Given the description of an element on the screen output the (x, y) to click on. 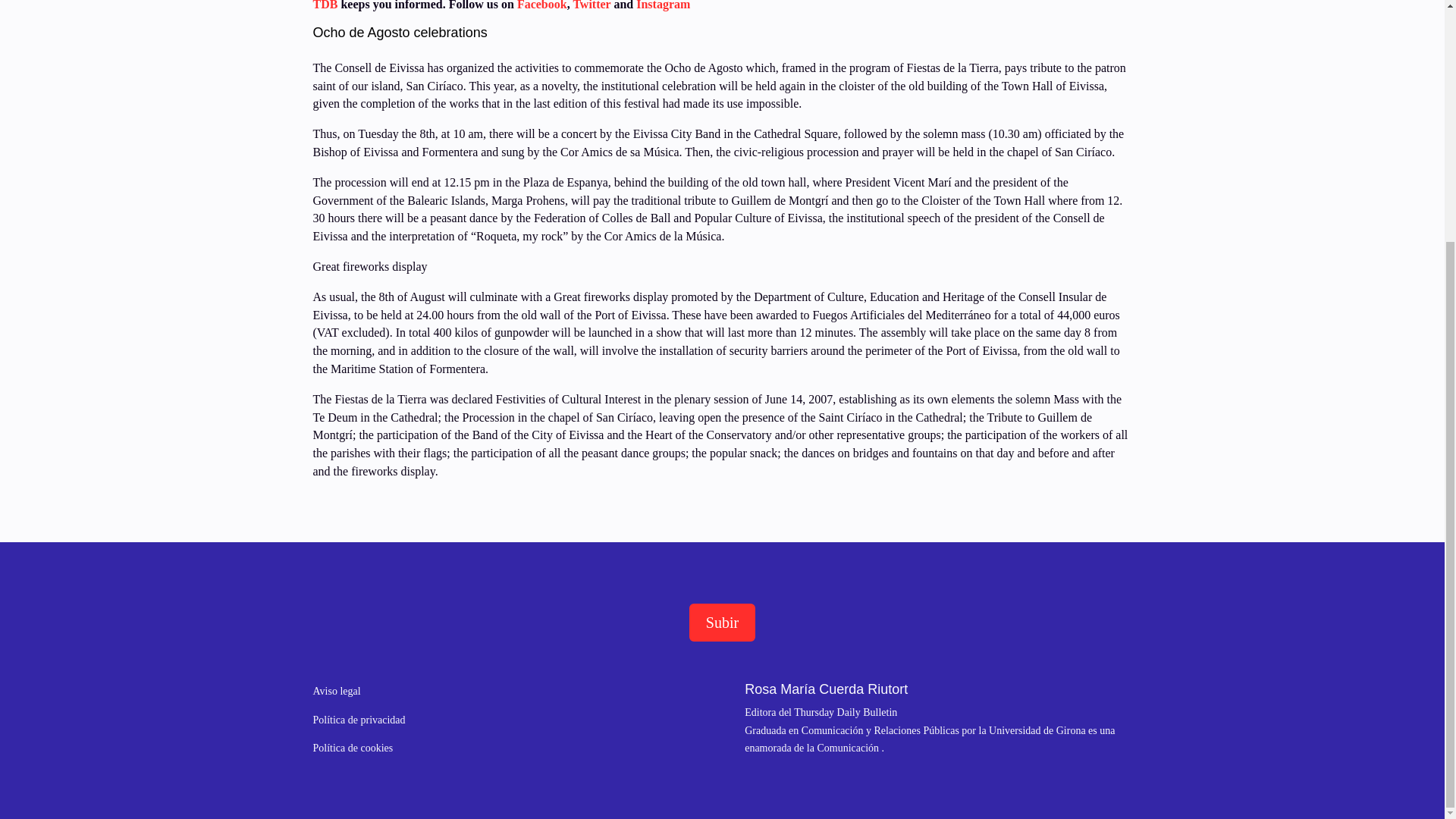
 Facebook (540, 5)
Subir (721, 622)
TDB (325, 5)
Twitter  (592, 5)
Aviso legal (336, 690)
Instagram (663, 5)
Aviso legal (336, 690)
